Given the description of an element on the screen output the (x, y) to click on. 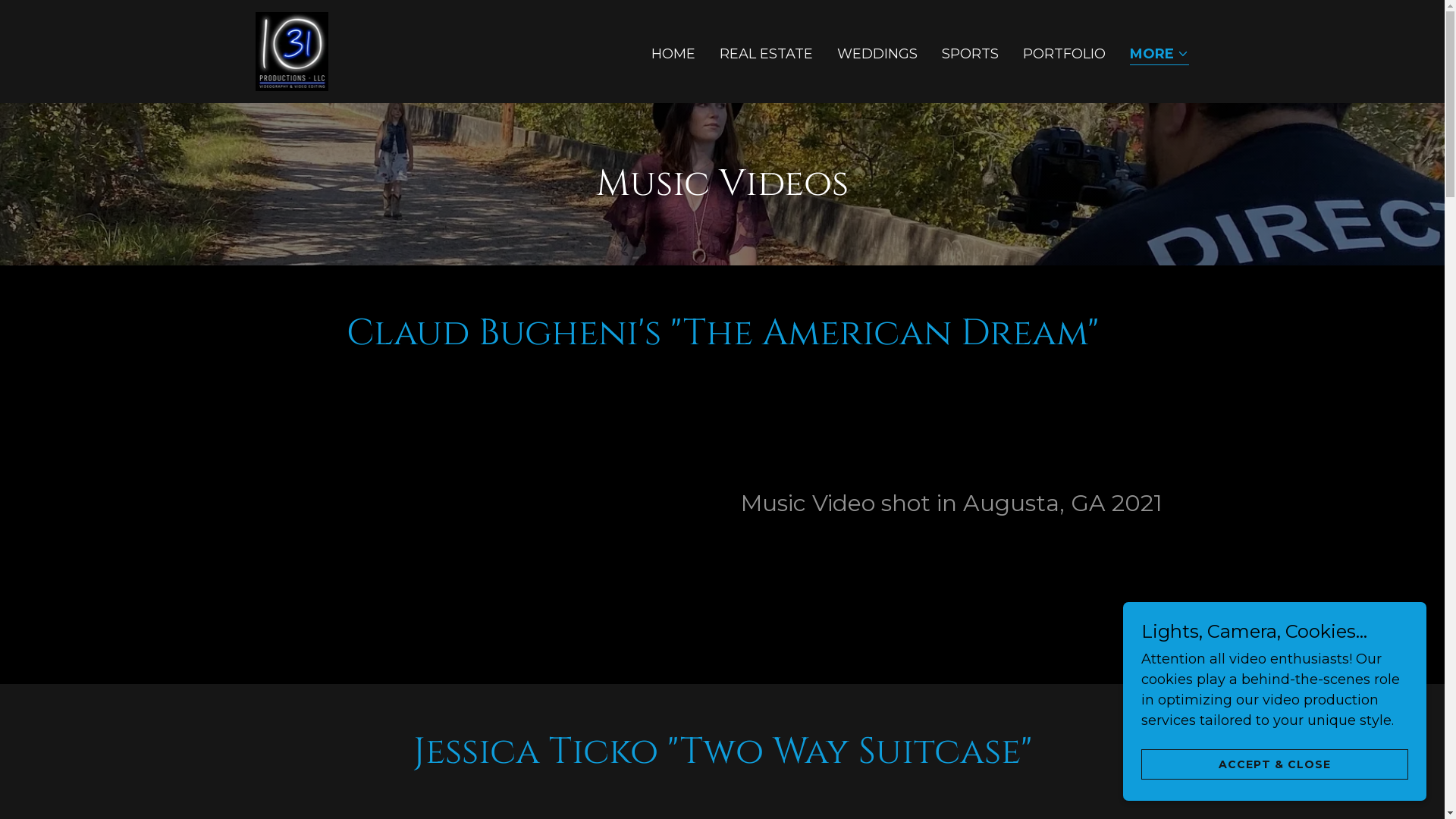
10:31 Productions, LLC Element type: hover (291, 50)
PORTFOLIO Element type: text (1064, 52)
HOME Element type: text (672, 52)
SPORTS Element type: text (970, 52)
REAL ESTATE Element type: text (766, 52)
MORE Element type: text (1159, 53)
WEDDINGS Element type: text (877, 52)
ACCEPT & CLOSE Element type: text (1274, 764)
